Given the description of an element on the screen output the (x, y) to click on. 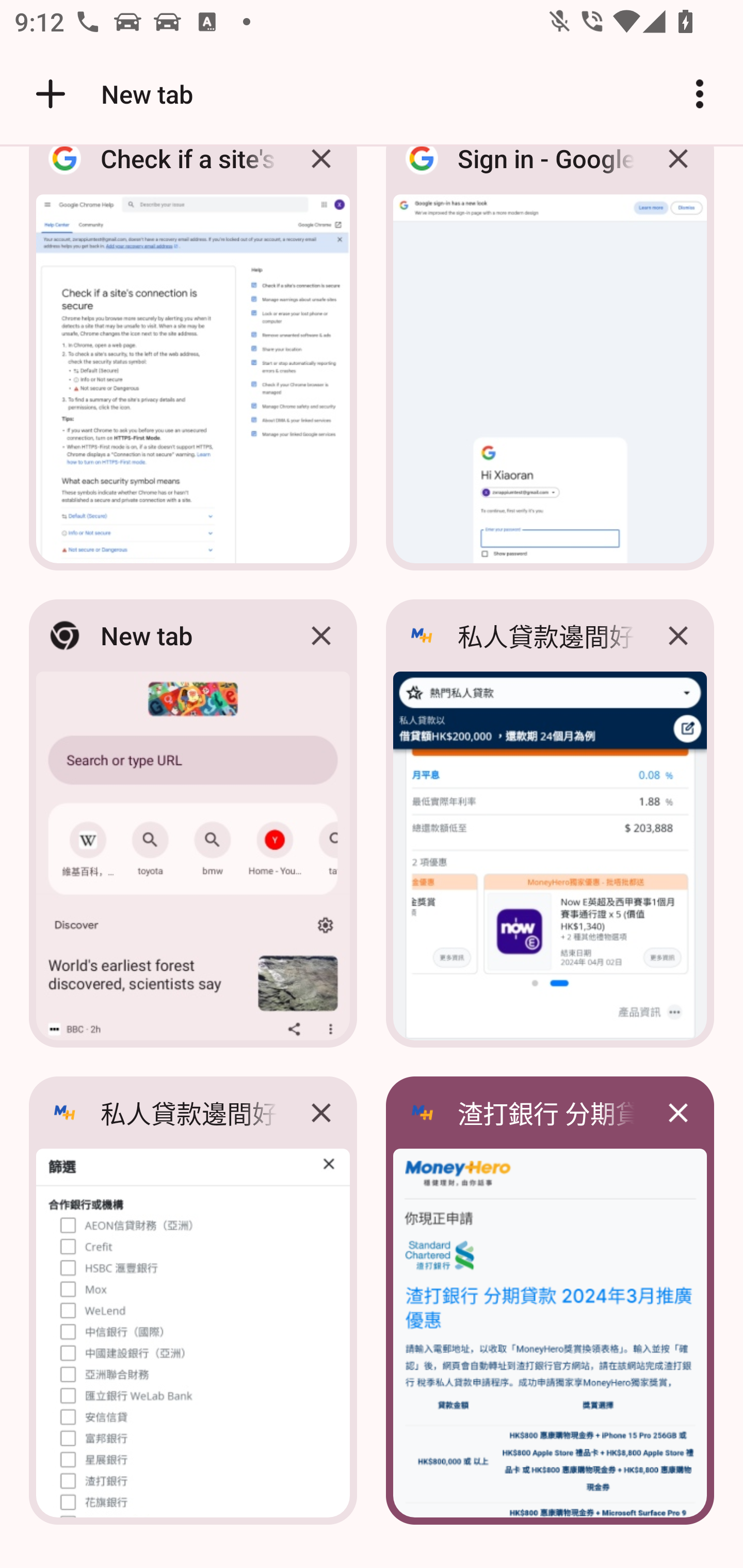
Open the home page (43, 93)
New tab (111, 93)
Customize and control Google Chrome (699, 93)
Customize and control Google Chrome (699, 93)
Customize and control Google Chrome (699, 93)
Close Sign in - Google Accounts tab (677, 173)
New tab New tab, tab Close New tab tab (192, 822)
Close New tab tab (320, 635)
Close 私人貸款邊間好？熱門稅貸、結餘轉戶及低息貸款等產品比較2024 tab (677, 635)
Close 私人貸款邊間好？熱門稅貸、結餘轉戶及低息貸款等產品比較2024 tab (320, 1112)
